Given the description of an element on the screen output the (x, y) to click on. 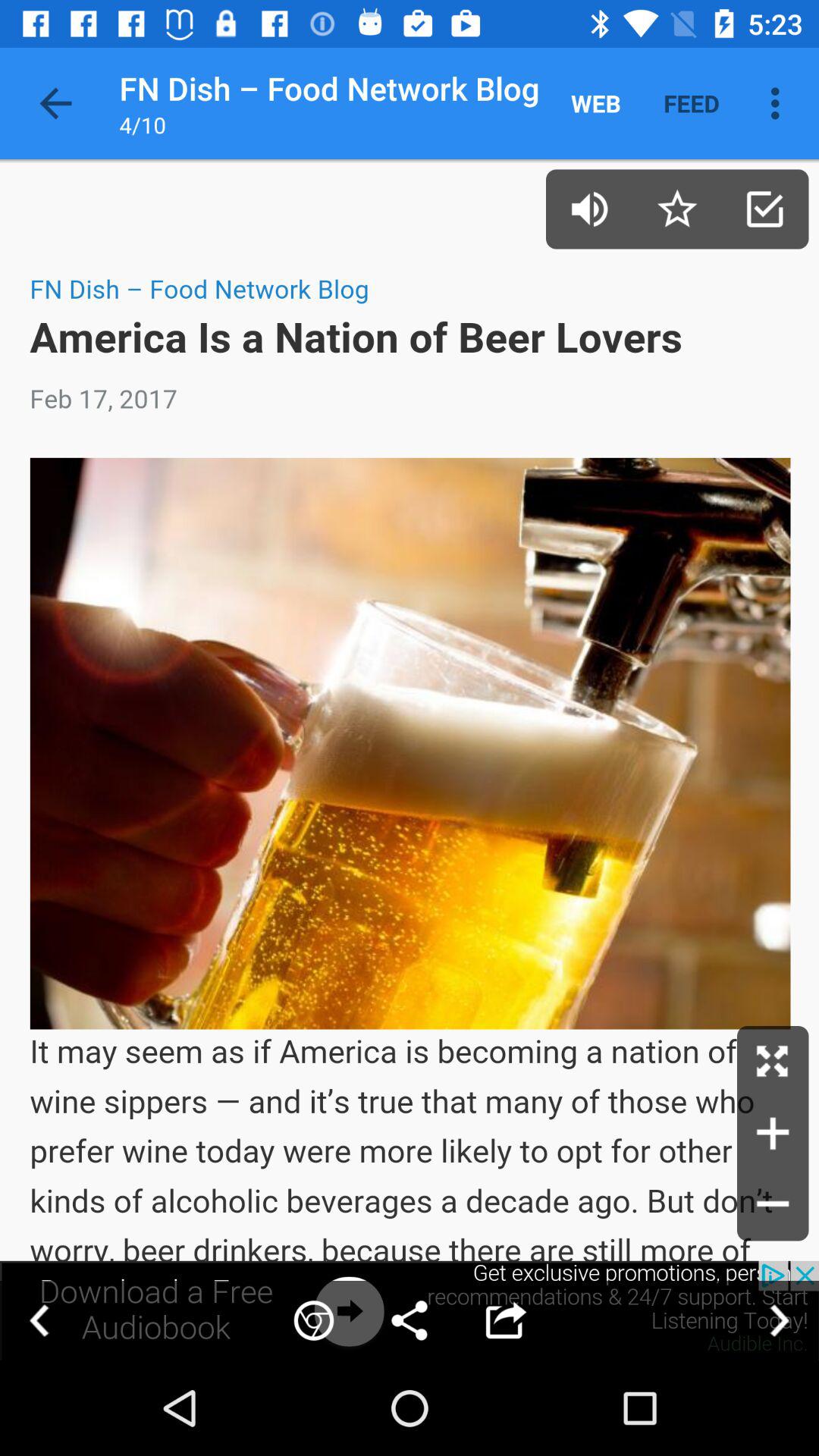
share screen (409, 1310)
